Given the description of an element on the screen output the (x, y) to click on. 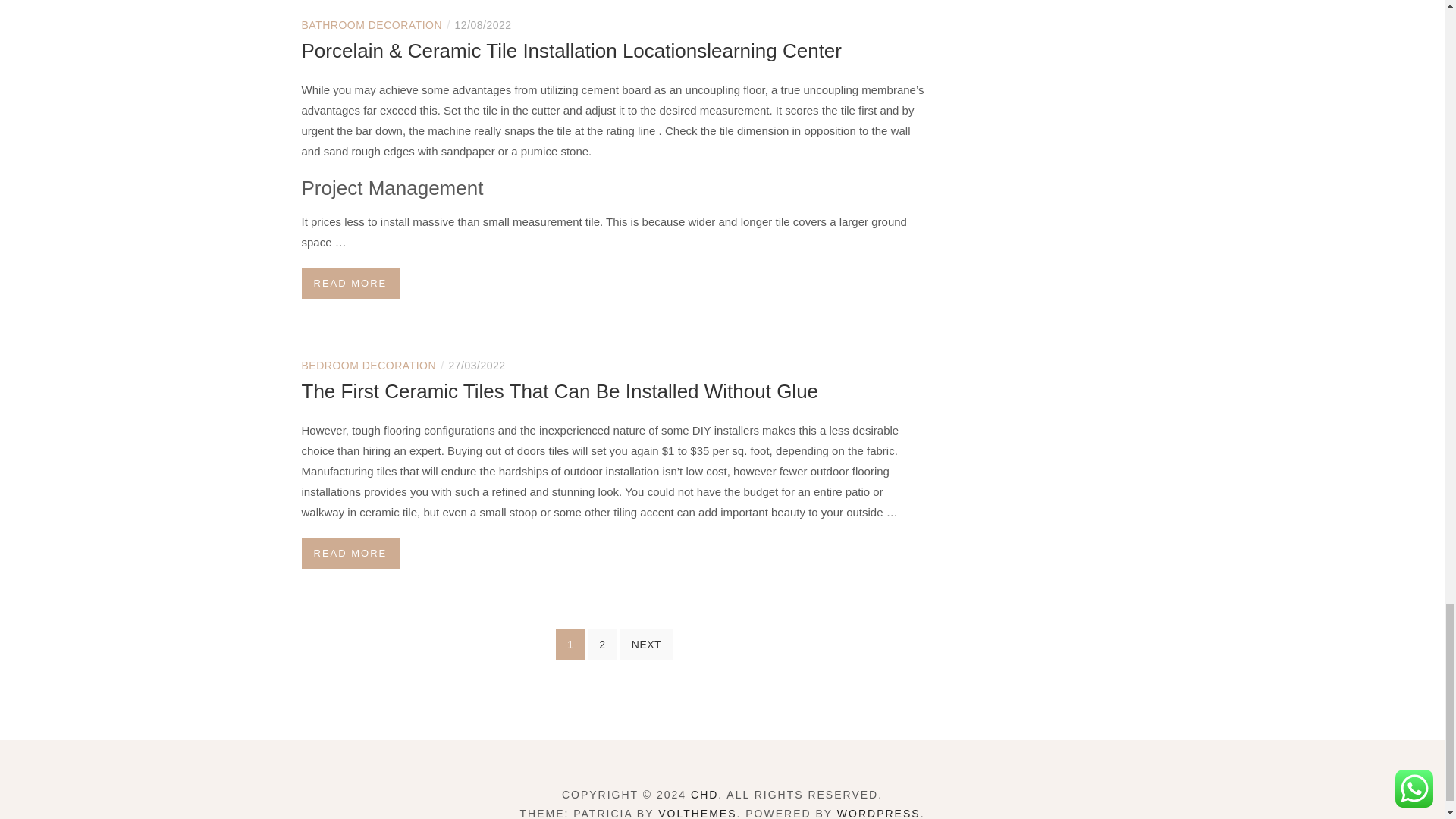
VolThemes (697, 813)
CHD (703, 794)
WordPress (878, 813)
